Given the description of an element on the screen output the (x, y) to click on. 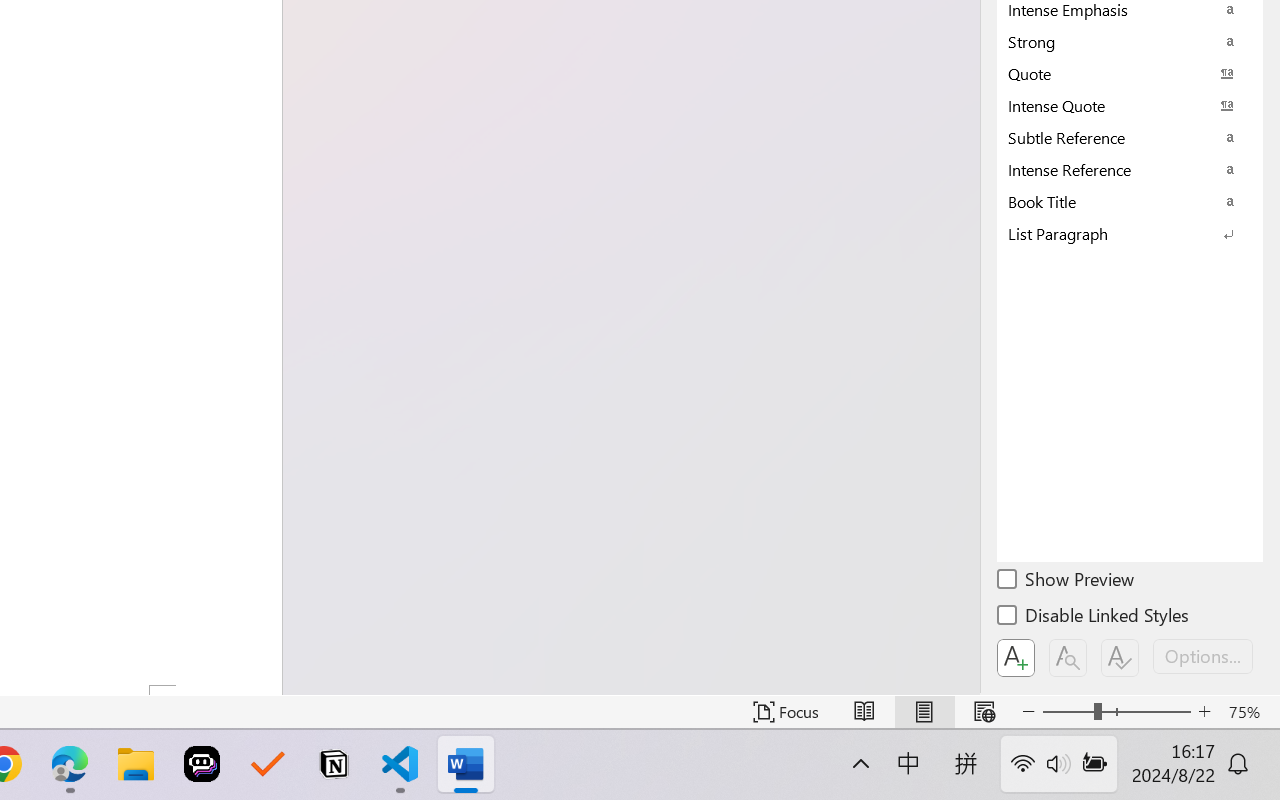
Disable Linked Styles (1094, 618)
Intense Reference (1130, 169)
Options... (1203, 656)
